Given the description of an element on the screen output the (x, y) to click on. 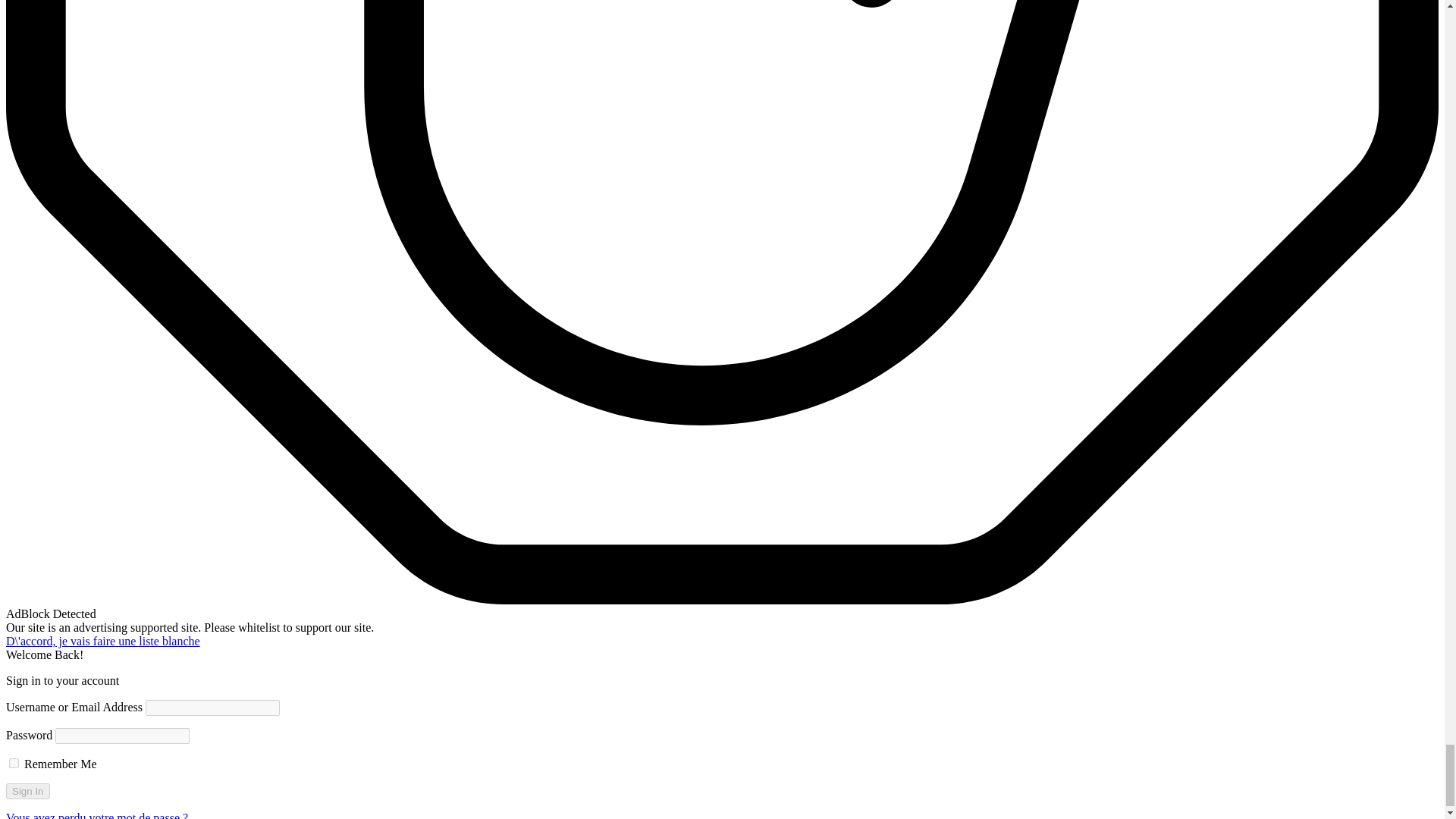
Sign In (27, 790)
forever (13, 763)
